Given the description of an element on the screen output the (x, y) to click on. 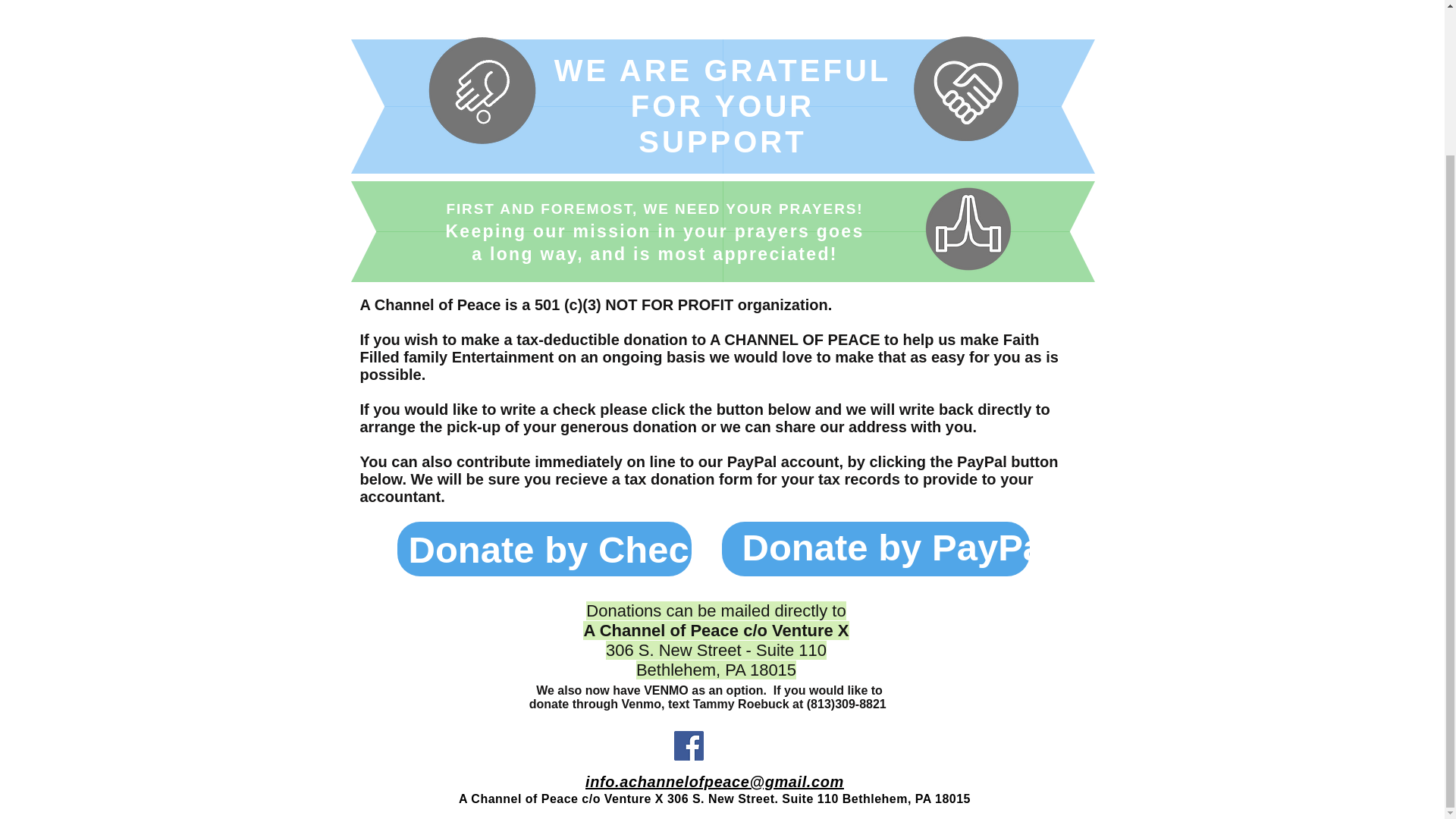
Donate by Check (558, 550)
Donate by PayPal (896, 547)
Young Filmmakers Program (586, 1)
OUR SUPPORTERS (756, 1)
DONATE (860, 1)
Twitter Follow (754, 745)
INTERNSHIPS (1010, 1)
ABOUT (448, 1)
LEV.png (964, 88)
HOME (383, 1)
